Given the description of an element on the screen output the (x, y) to click on. 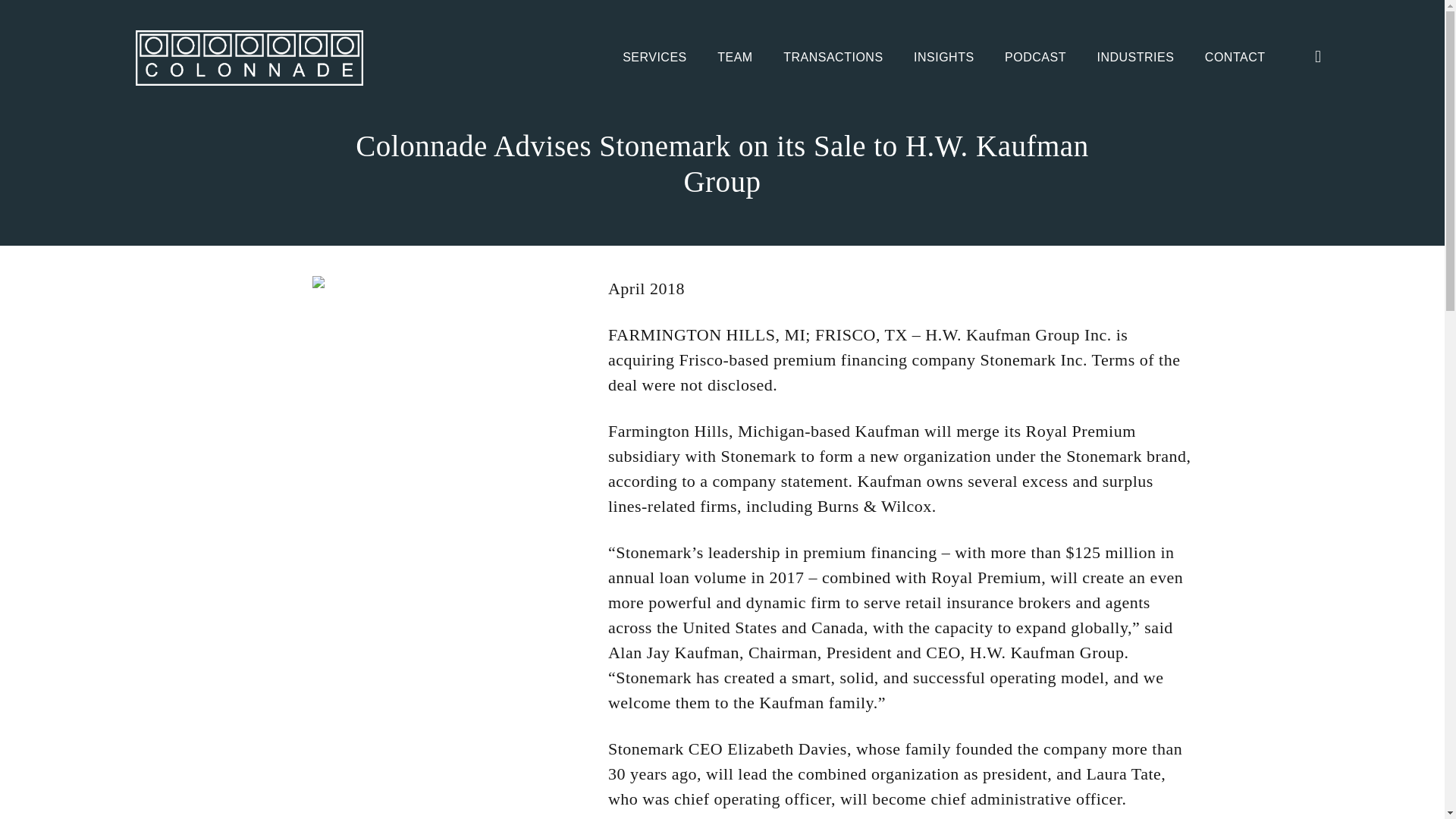
INSIGHTS (944, 57)
TEAM (734, 57)
TRANSACTIONS (832, 57)
CONTACT (1235, 57)
INDUSTRIES (1134, 57)
SERVICES (655, 57)
PODCAST (1034, 57)
Stonemark Kaufman Web (409, 282)
Colonnade Logo White (248, 57)
